Given the description of an element on the screen output the (x, y) to click on. 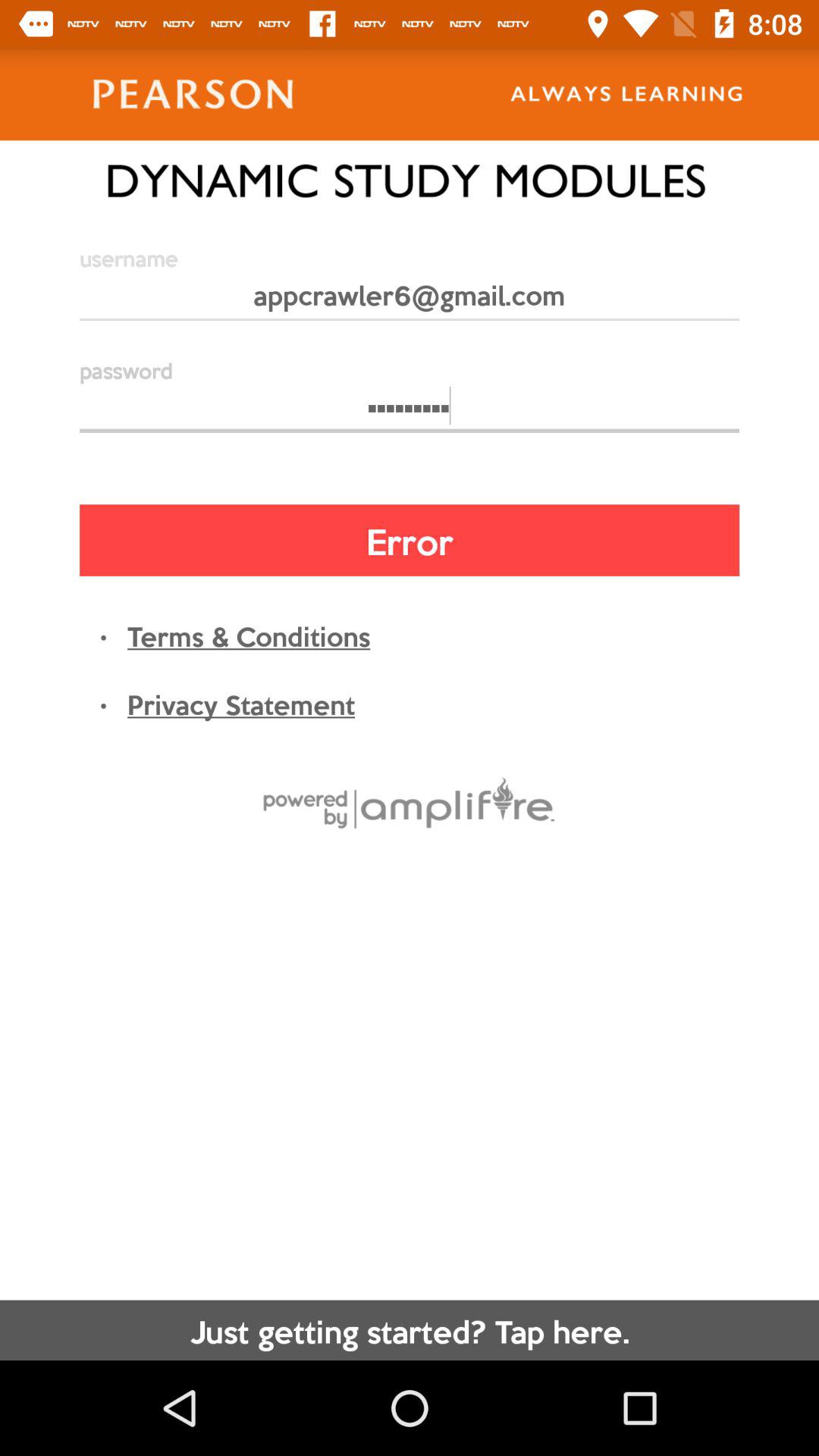
tap crowd3116 (409, 413)
